Given the description of an element on the screen output the (x, y) to click on. 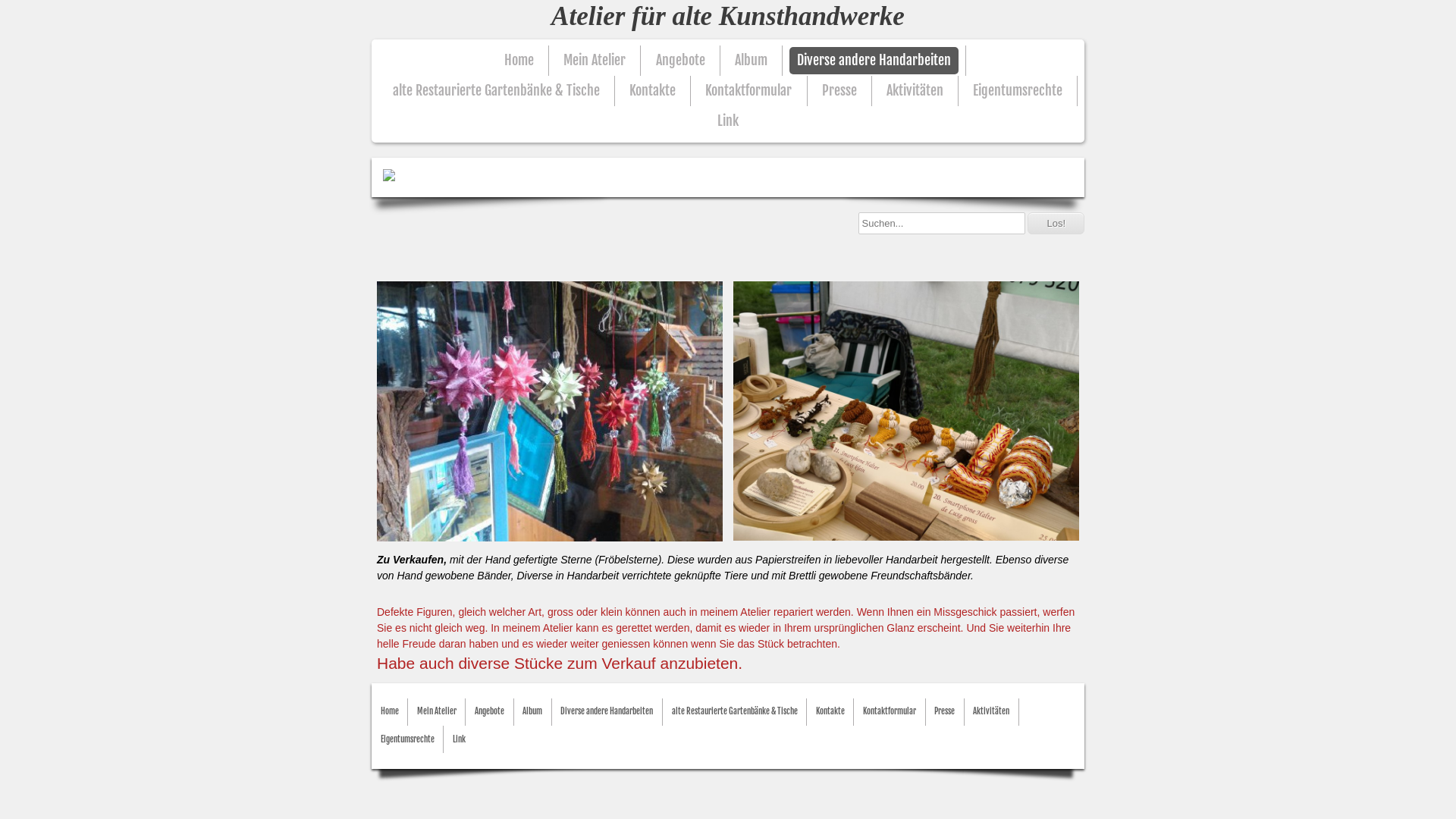
Home Element type: text (518, 60)
Diverse andere Handarbeiten Element type: text (873, 60)
Kontaktformular Element type: text (748, 90)
Presse Element type: text (944, 711)
Mein Atelier Element type: text (594, 60)
Home Element type: text (389, 711)
Kontakte Element type: text (652, 90)
Angebote Element type: text (489, 711)
Eigentumsrechte Element type: text (407, 739)
Kontaktformular Element type: text (889, 711)
Kontakte Element type: text (830, 711)
Diverse andere Handarbeiten Element type: text (606, 711)
Mein Atelier Element type: text (436, 711)
Los! Element type: text (1055, 223)
Link Element type: text (459, 739)
Eigentumsrechte Element type: text (1017, 90)
Album Element type: text (751, 60)
Presse Element type: text (839, 90)
Link Element type: text (727, 120)
Angebote Element type: text (679, 60)
Album Element type: text (531, 711)
